Given the description of an element on the screen output the (x, y) to click on. 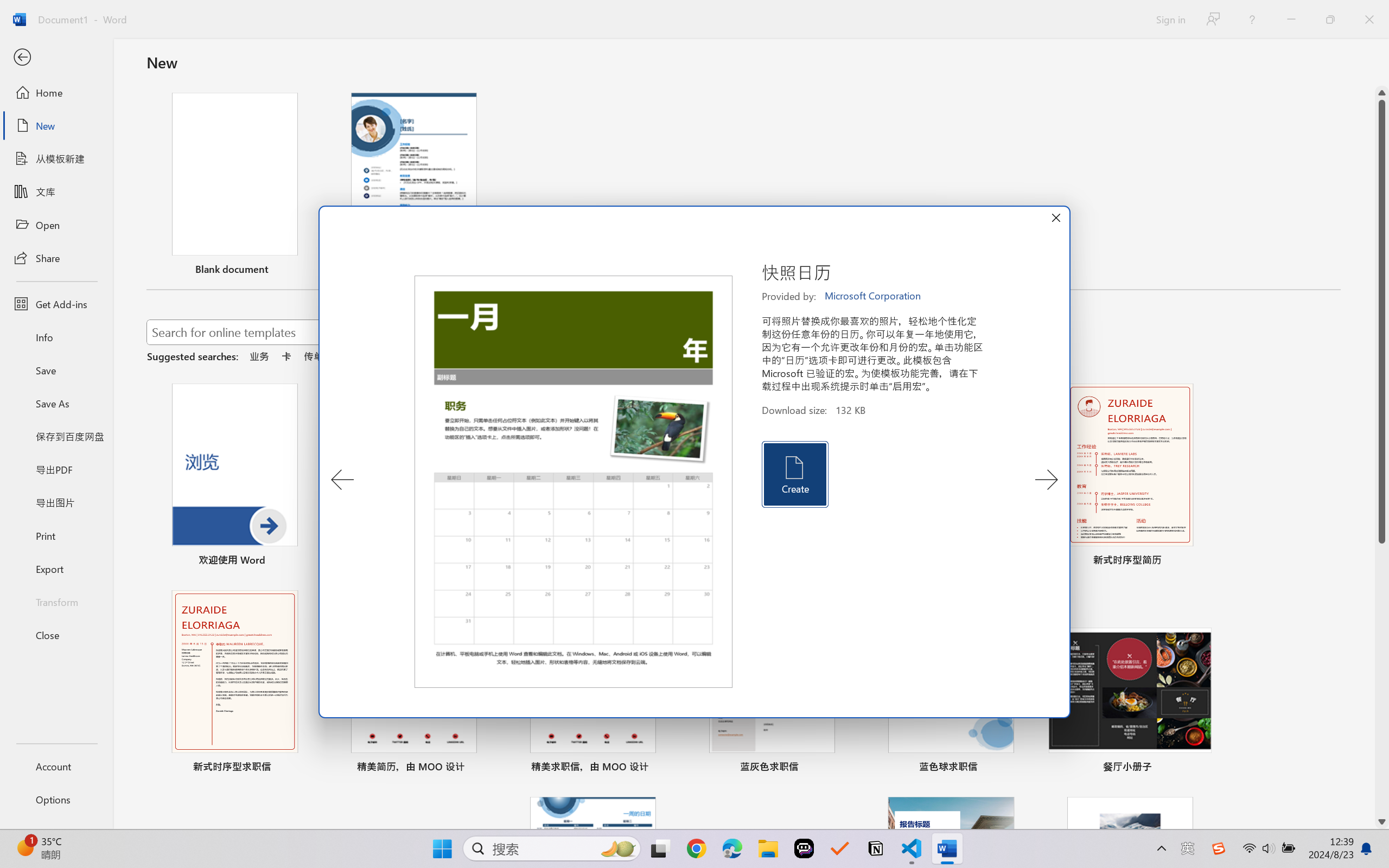
Account (56, 765)
Previous Template (342, 479)
Line up (1382, 92)
Create (794, 473)
Print (56, 535)
